Given the description of an element on the screen output the (x, y) to click on. 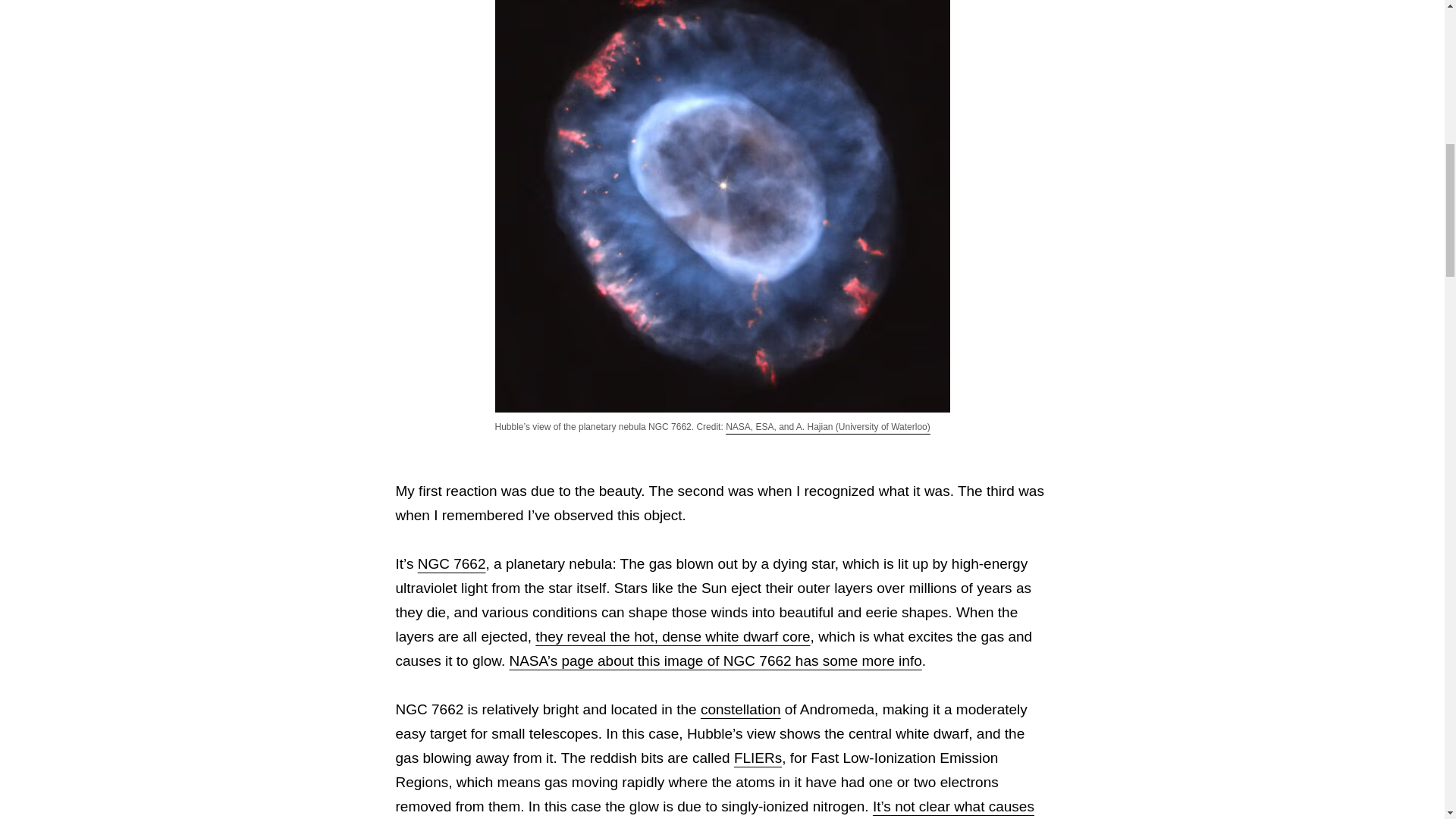
constellation (740, 709)
they reveal the hot, dense white dwarf core (672, 636)
FLIERs (757, 757)
NGC 7662 (451, 563)
